Given the description of an element on the screen output the (x, y) to click on. 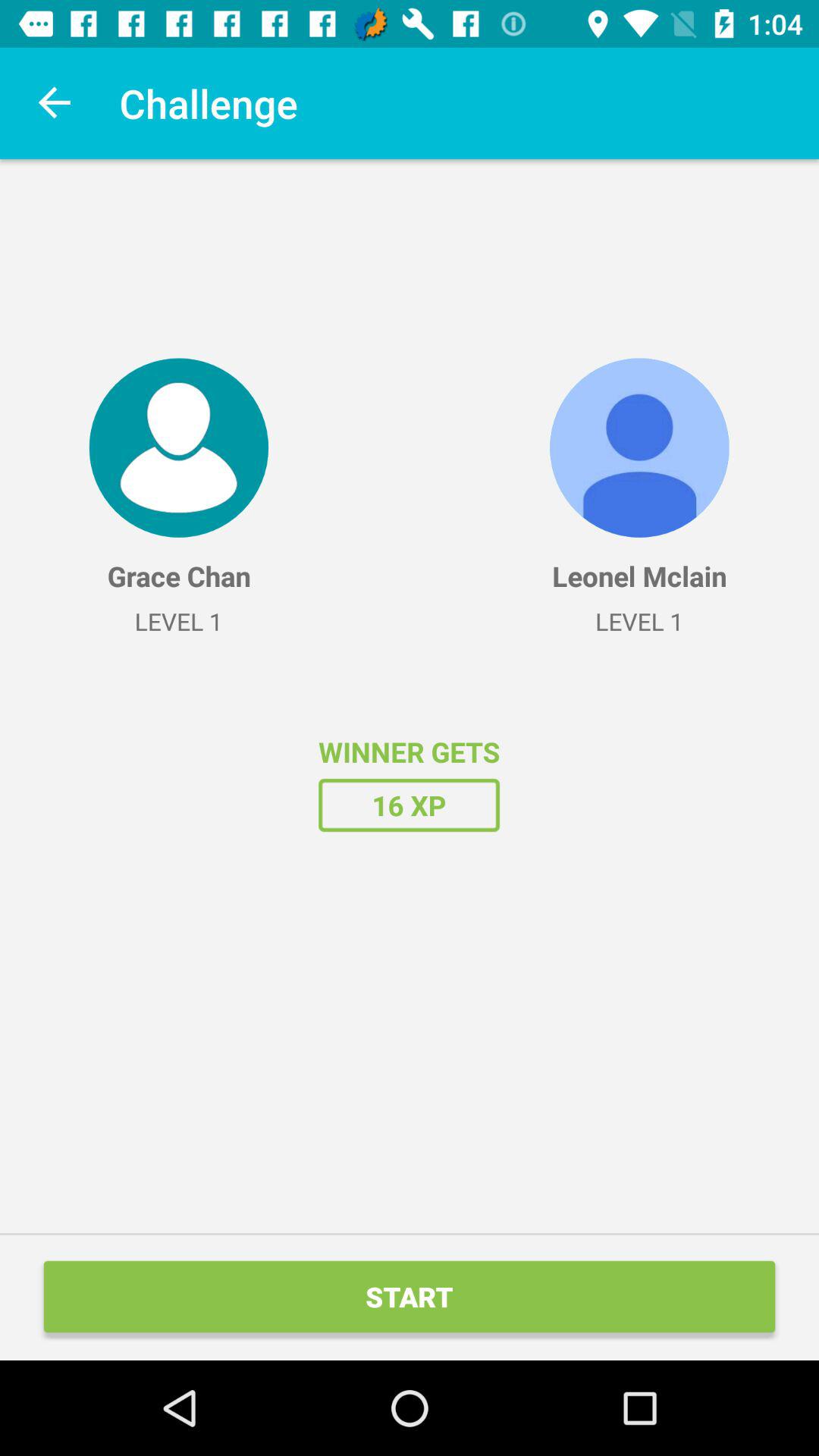
change profile (178, 447)
